Given the description of an element on the screen output the (x, y) to click on. 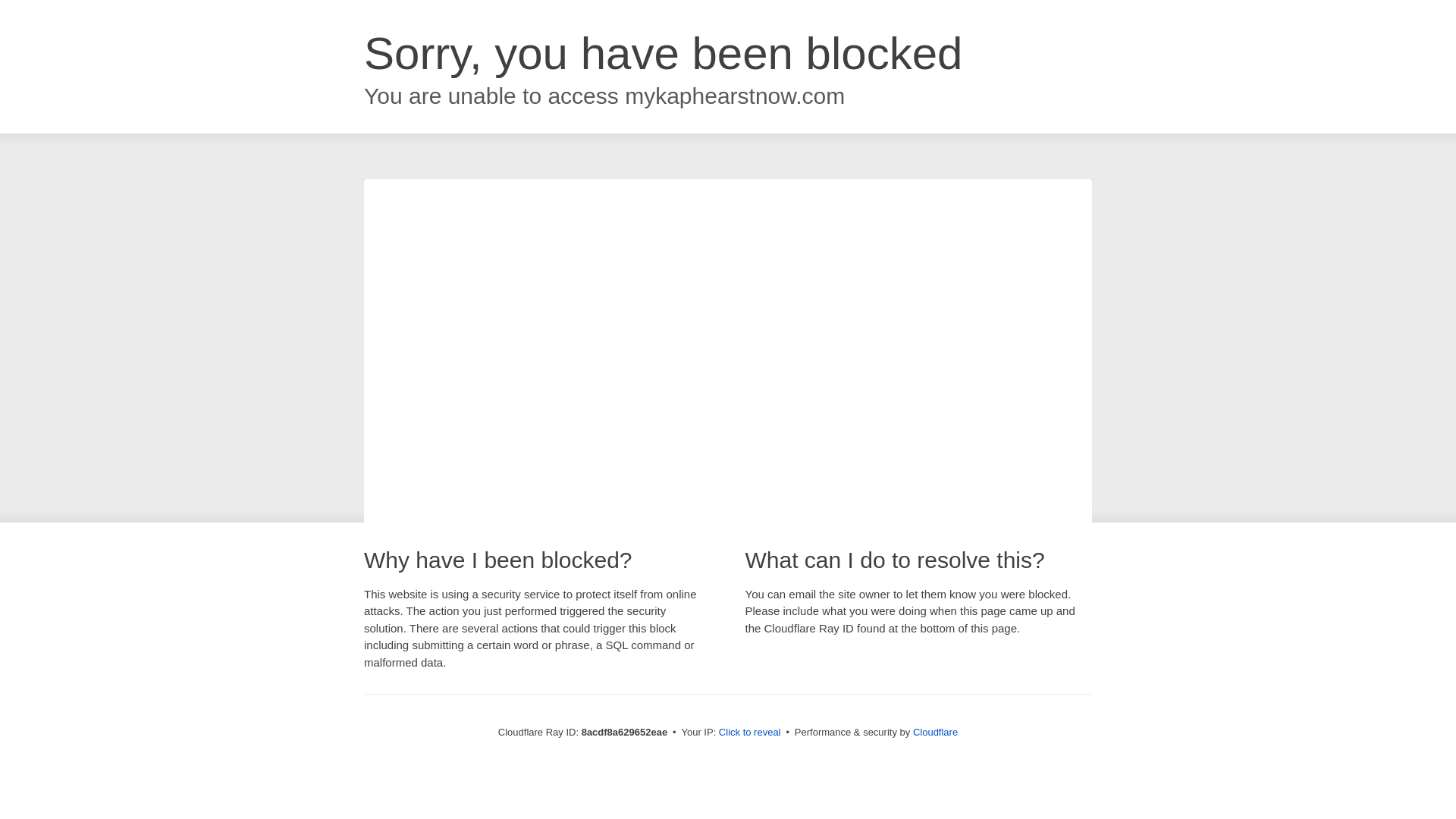
Cloudflare (935, 731)
Click to reveal (749, 732)
